Given the description of an element on the screen output the (x, y) to click on. 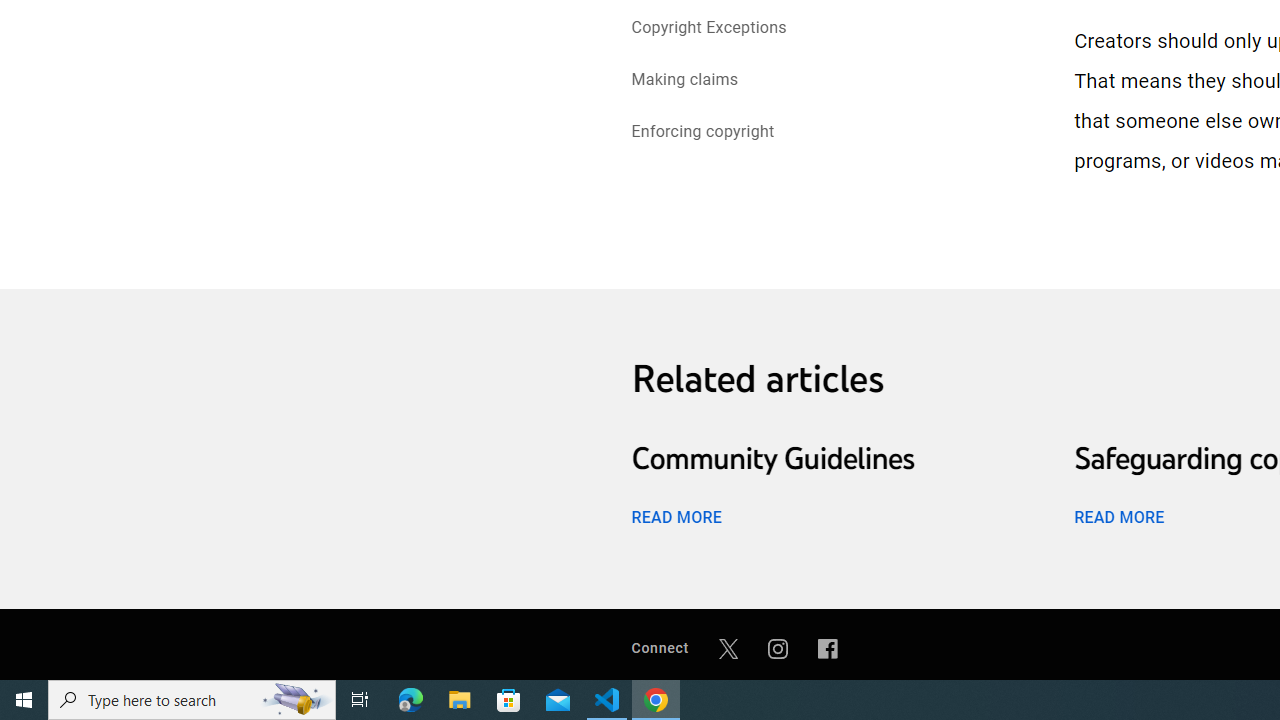
Enforcing copyright (702, 133)
Facebook (828, 648)
READ MORE (1118, 516)
Making claims (684, 81)
Copyright Exceptions (709, 28)
Instagram (778, 648)
Twitter (728, 648)
